Given the description of an element on the screen output the (x, y) to click on. 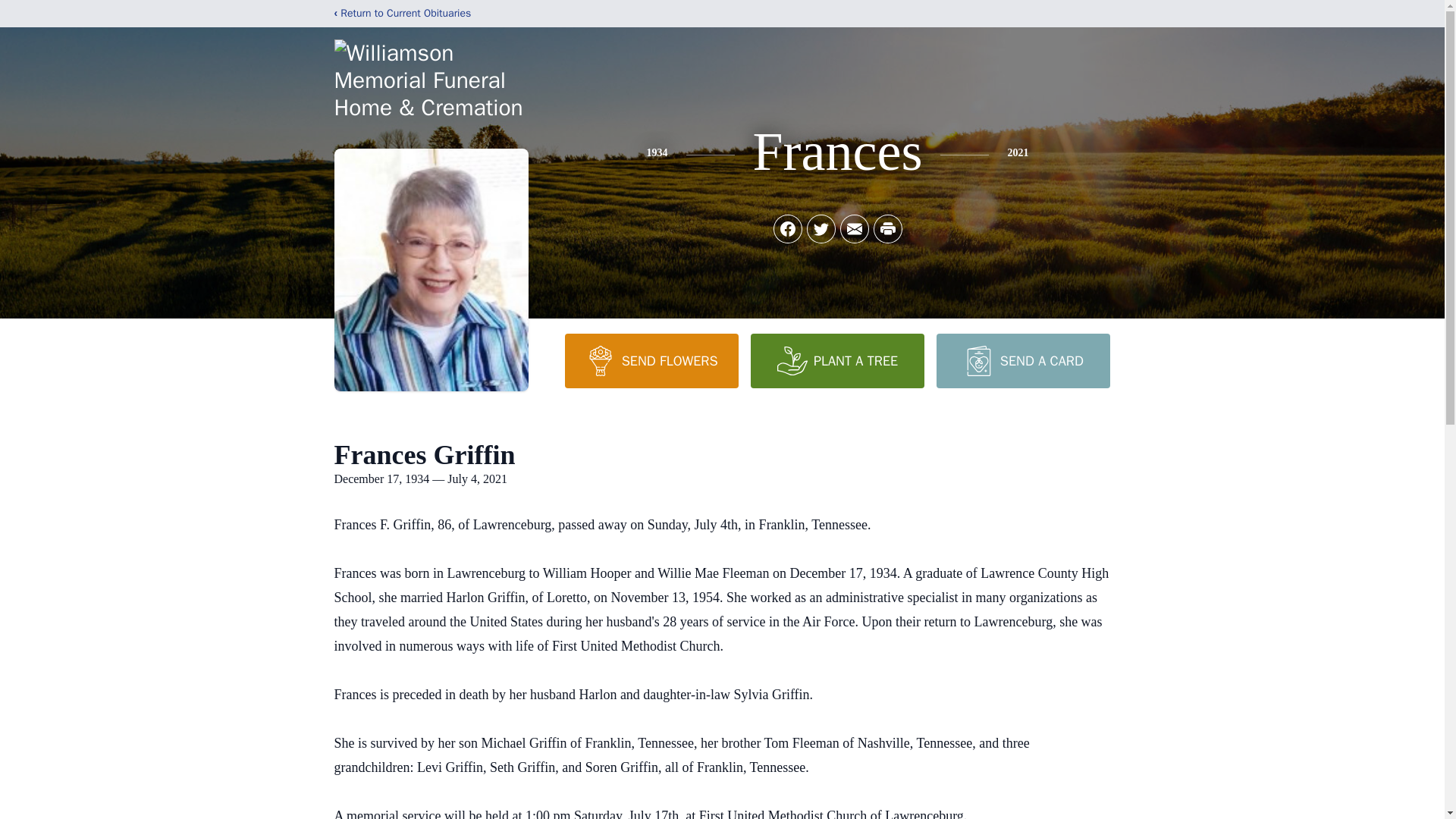
SEND A CARD (1022, 360)
PLANT A TREE (837, 360)
SEND FLOWERS (651, 360)
